Given the description of an element on the screen output the (x, y) to click on. 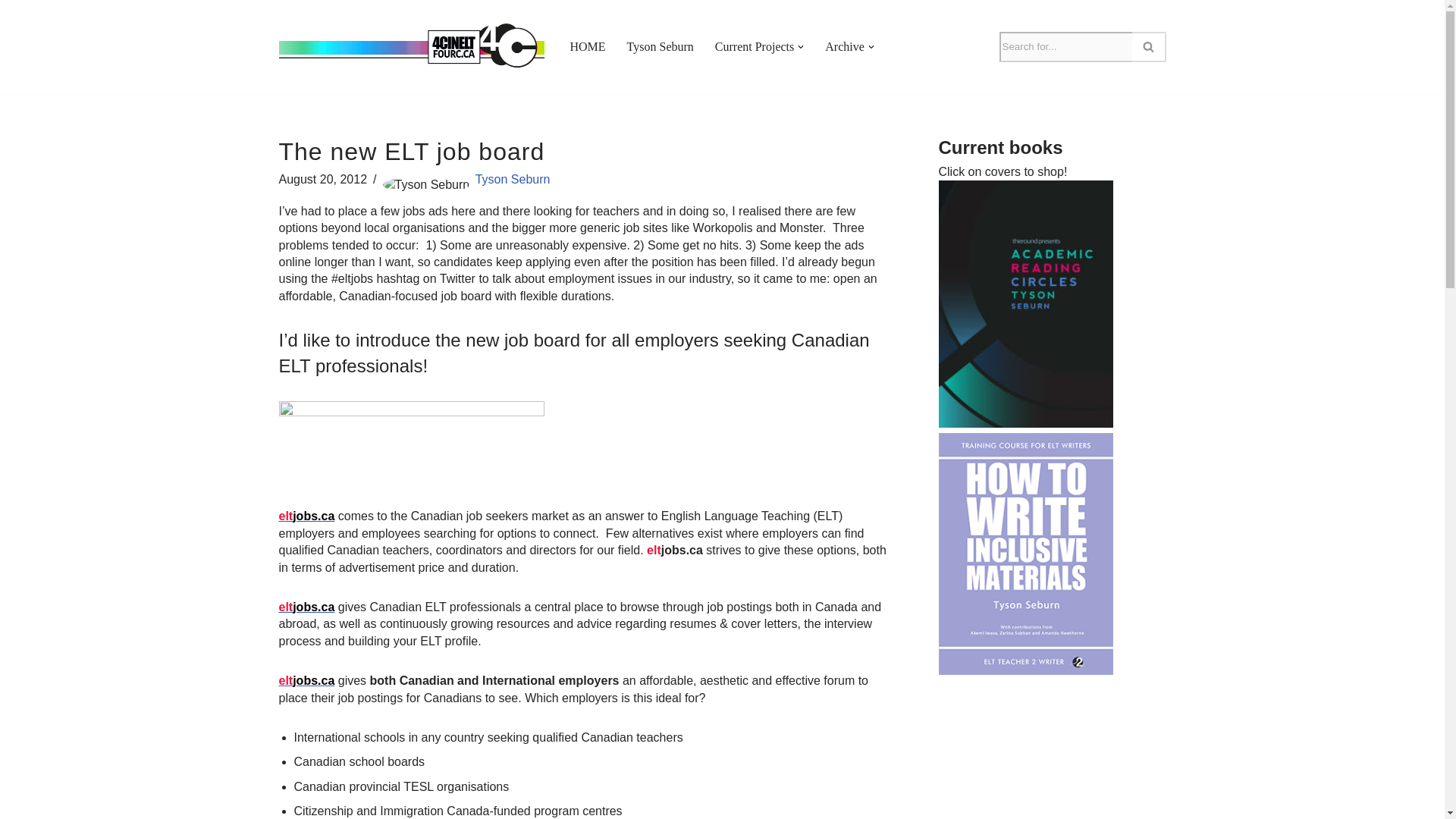
Tyson Seburn (660, 46)
Current Projects (753, 46)
Posts by Tyson Seburn (513, 178)
Skip to content (11, 31)
Tyson Seburn (513, 178)
logo350 (411, 443)
Archive (844, 46)
HOME (587, 46)
